Given the description of an element on the screen output the (x, y) to click on. 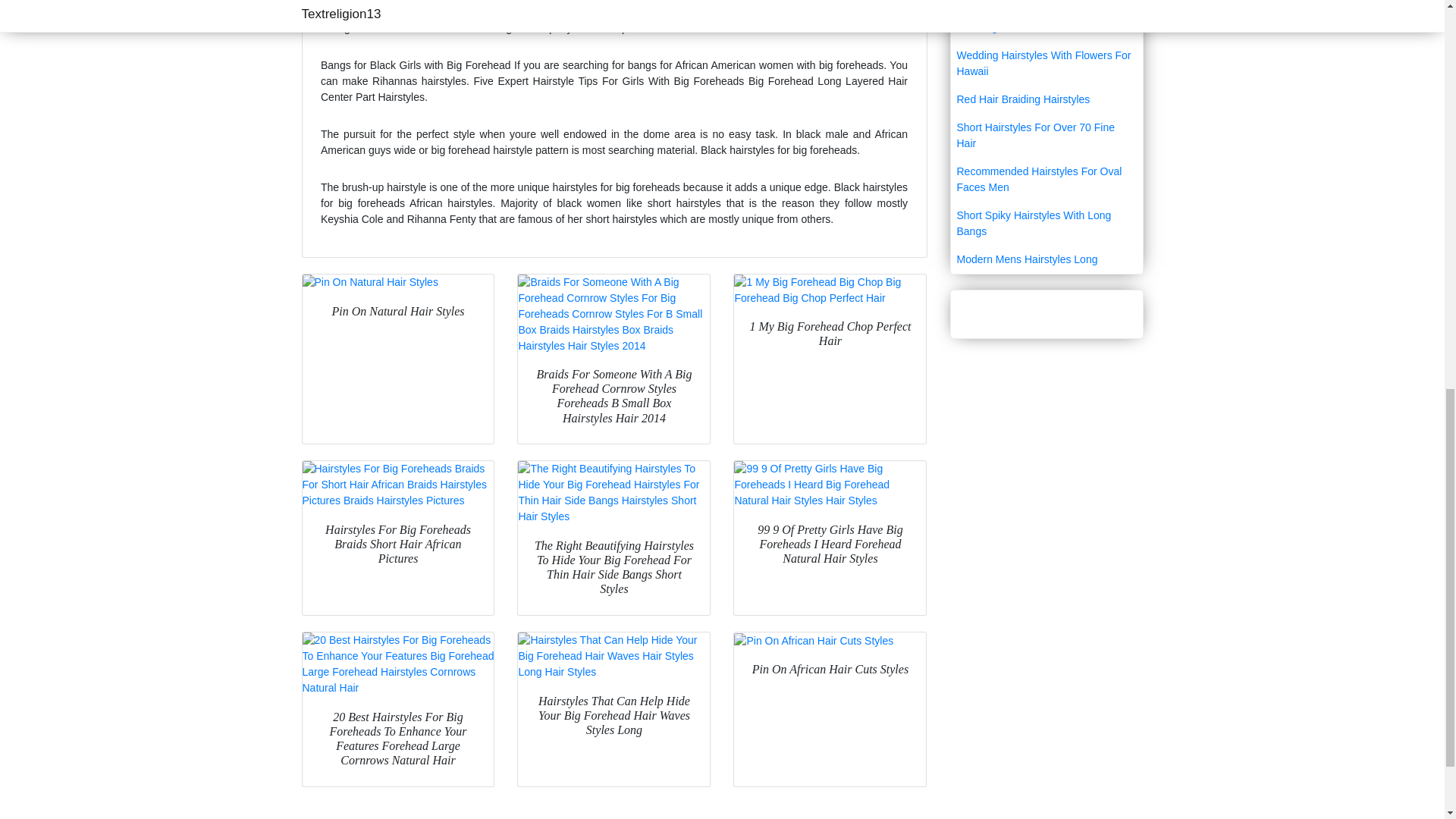
Womens Hairstyles In George Washingtons Time (1046, 20)
